Given the description of an element on the screen output the (x, y) to click on. 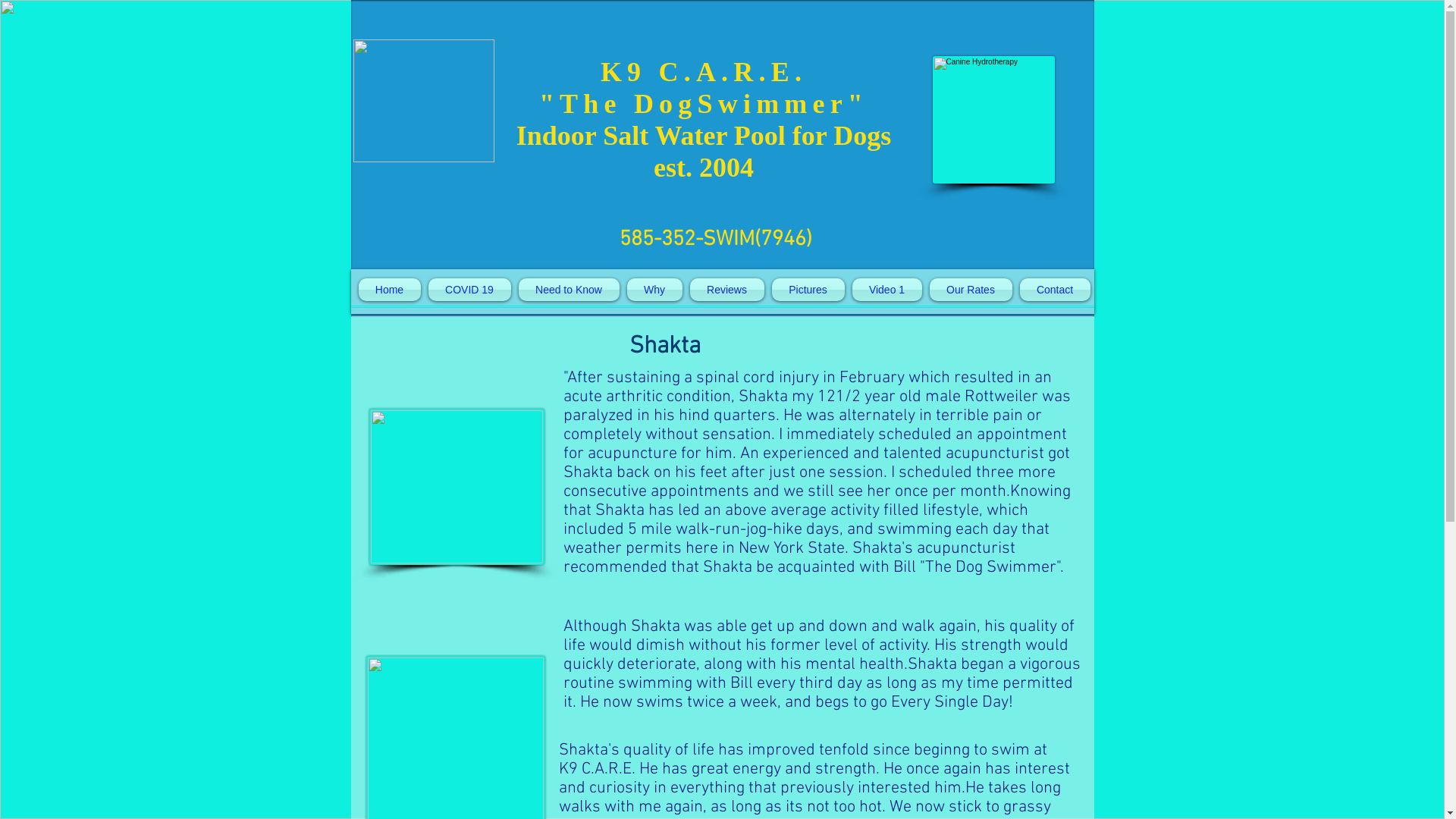
Video 1 Element type: text (886, 289)
Why Element type: text (654, 289)
COVID 19 Element type: text (469, 289)
Pictures Element type: text (807, 289)
Home Element type: text (390, 289)
Need to Know Element type: text (568, 289)
The Dog Swimmer Element type: hover (993, 119)
Contact Element type: text (1053, 289)
Our Rates Element type: text (970, 289)
Reviews Element type: text (726, 289)
